Given the description of an element on the screen output the (x, y) to click on. 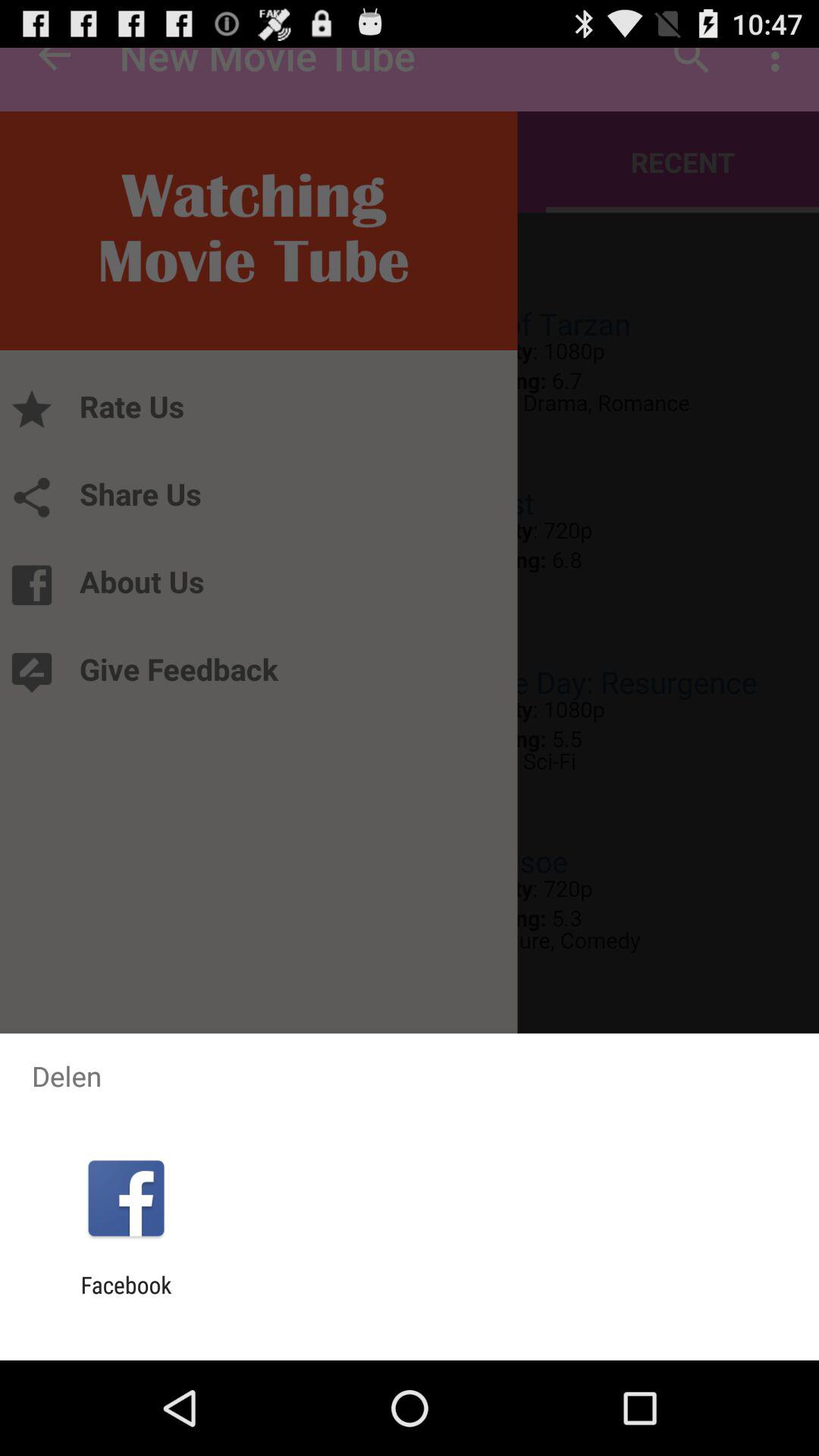
choose item below the delen app (126, 1198)
